Given the description of an element on the screen output the (x, y) to click on. 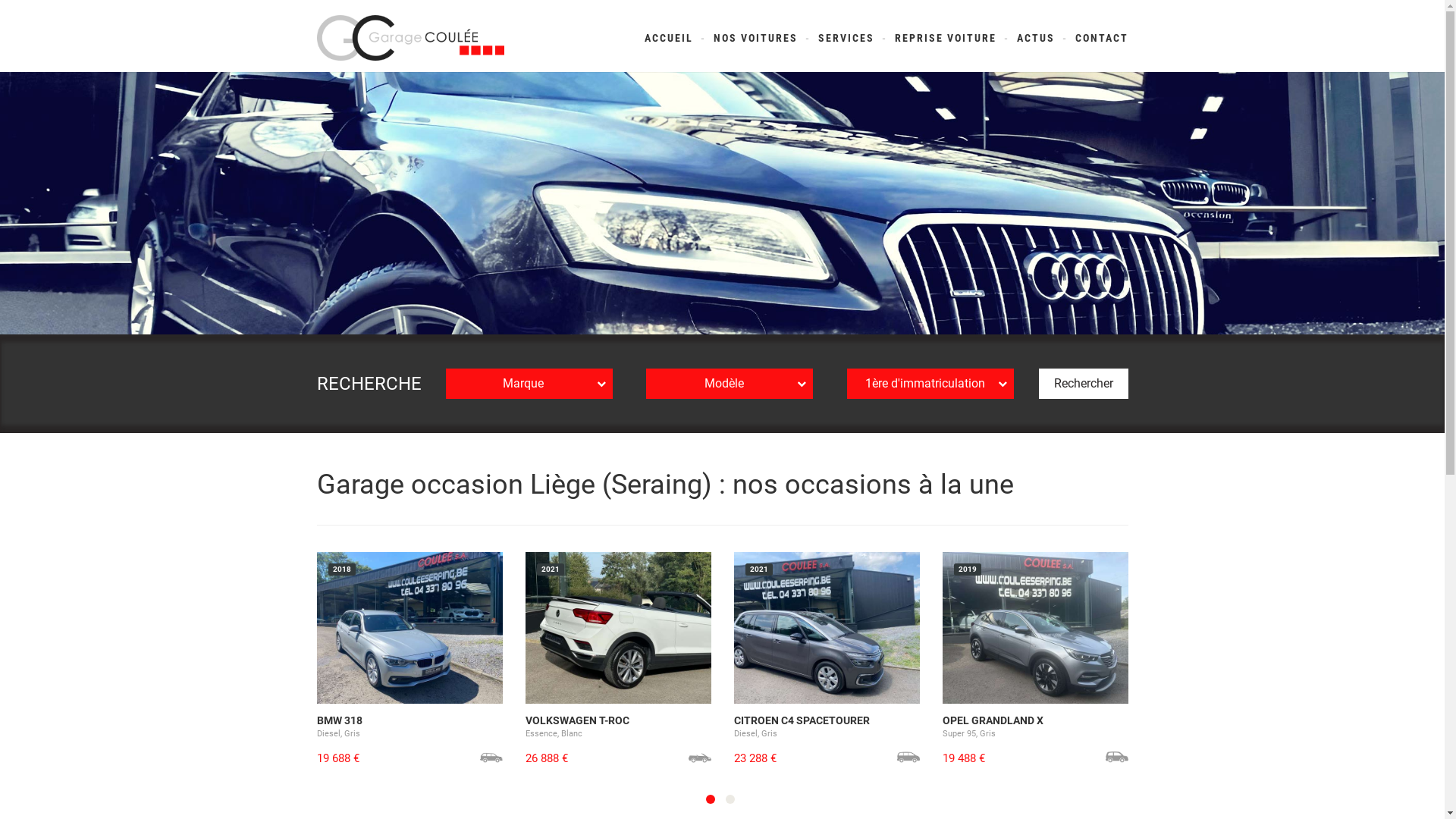
CITROEN C4 SPACETOURER Element type: text (801, 720)
REPRISE VOITURE Element type: text (945, 38)
VOLKSWAGEN T-ROC Element type: text (576, 720)
ACCUEIL Element type: text (668, 38)
Rechercher Element type: text (1083, 383)
En savoir plus Element type: hover (699, 756)
ACTUS Element type: text (1035, 38)
En savoir plus Element type: hover (907, 756)
En savoir plus Element type: hover (1116, 756)
BMW 318 Element type: text (339, 720)
CONTACT Element type: text (1101, 38)
En savoir plus Element type: hover (490, 756)
OPEL GRANDLAND X Element type: text (991, 720)
SERVICES Element type: text (845, 38)
NOS VOITURES Element type: text (754, 38)
